Given the description of an element on the screen output the (x, y) to click on. 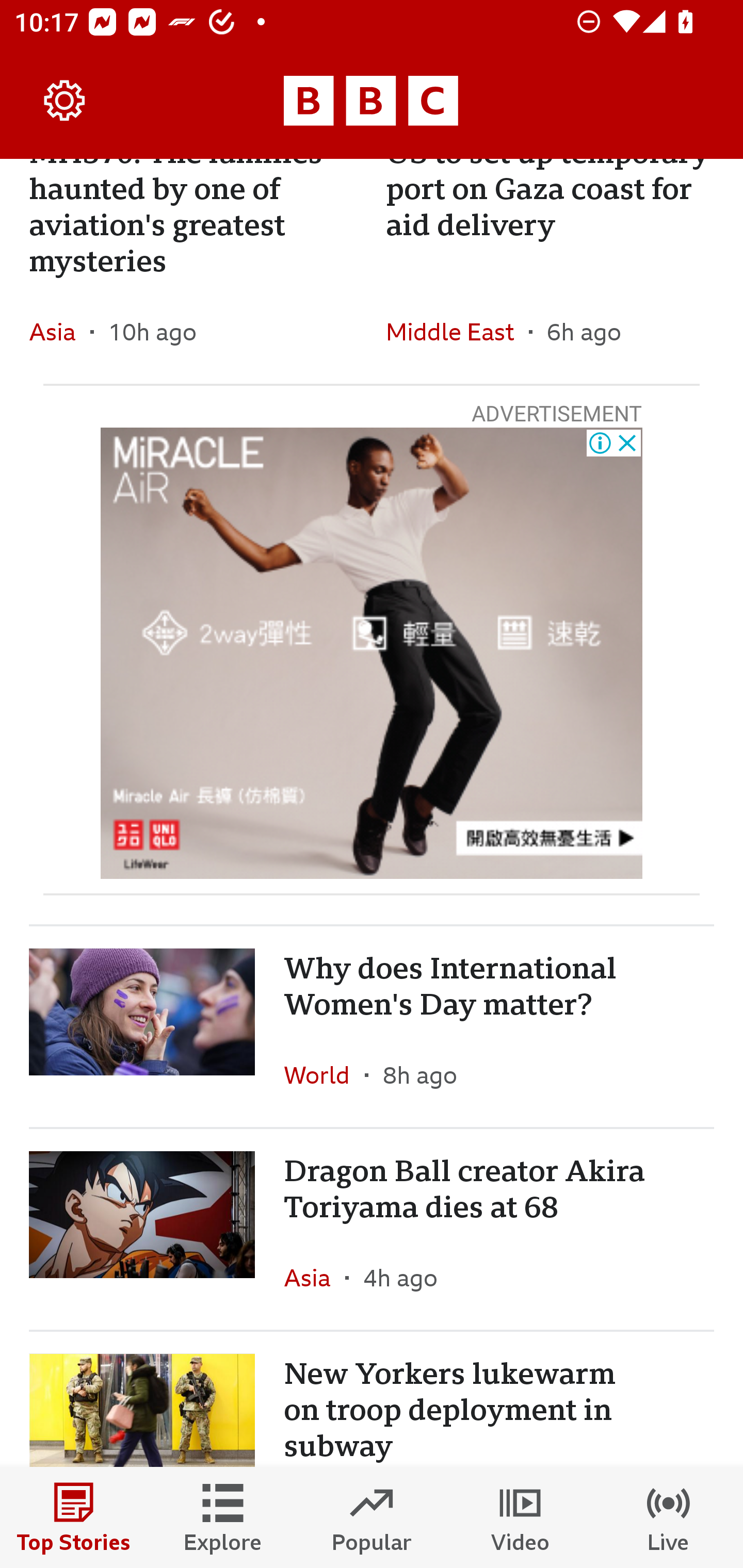
Settings (64, 100)
Asia In the section Asia (59, 331)
Middle East In the section Middle East (457, 331)
Advertisement (371, 653)
World In the section World (323, 1074)
Asia In the section Asia (314, 1277)
Explore (222, 1517)
Popular (371, 1517)
Video (519, 1517)
Live (668, 1517)
